Given the description of an element on the screen output the (x, y) to click on. 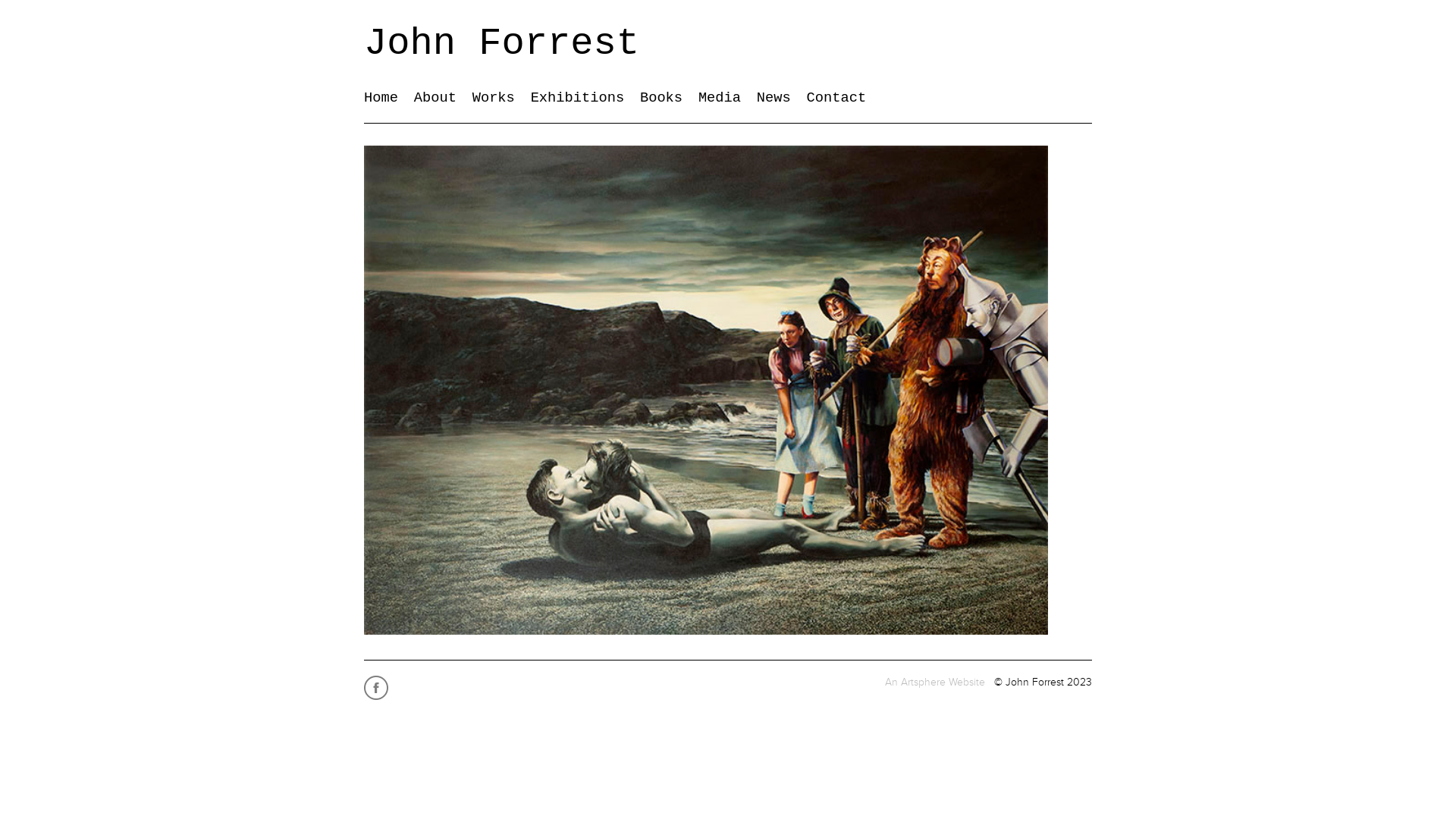
Contact Element type: text (836, 97)
Works Element type: text (493, 97)
Facebook Element type: hover (377, 698)
Exhibitions Element type: text (577, 97)
Books Element type: text (661, 97)
News Element type: text (773, 97)
About Element type: text (435, 97)
An Artsphere Website Element type: text (934, 681)
Media Element type: text (719, 97)
Home Element type: text (381, 97)
